Given the description of an element on the screen output the (x, y) to click on. 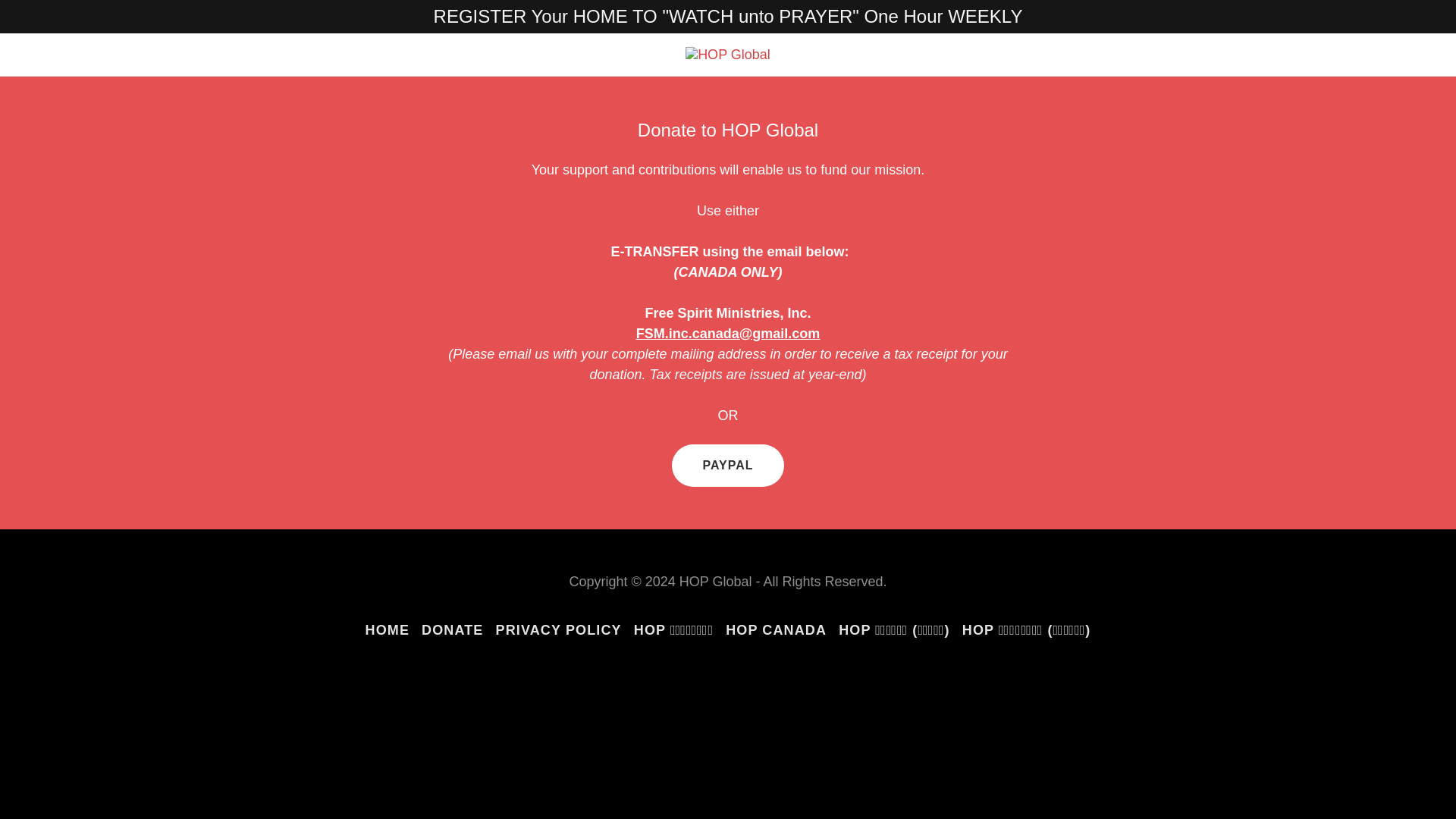
PAYPAL (727, 465)
PRIVACY POLICY (558, 630)
HOME (387, 630)
HOP CANADA (775, 630)
HOP Global (727, 53)
DONATE (451, 630)
